Given the description of an element on the screen output the (x, y) to click on. 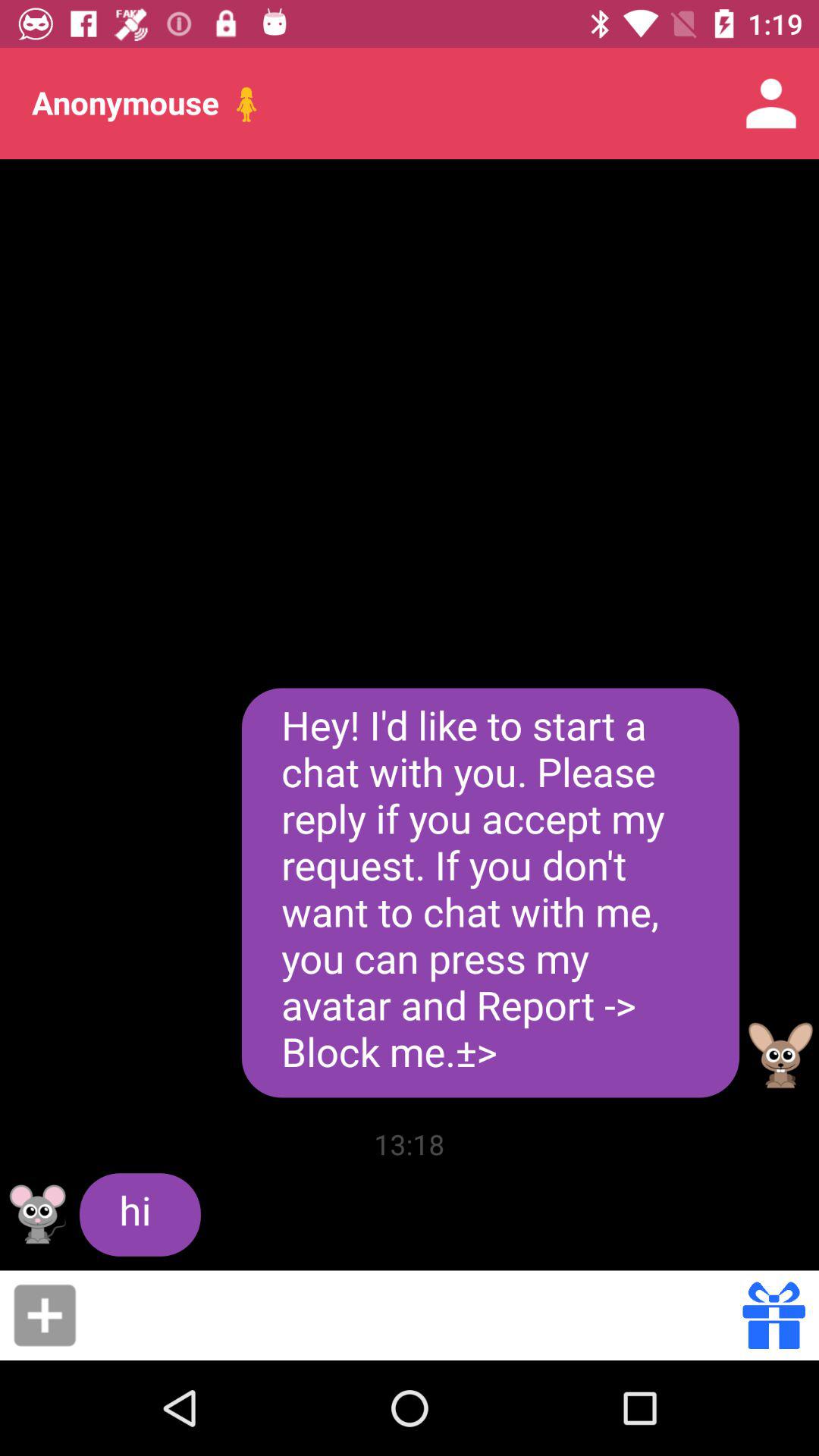
tap the icon to the left of the 13:18 icon (139, 1214)
